Given the description of an element on the screen output the (x, y) to click on. 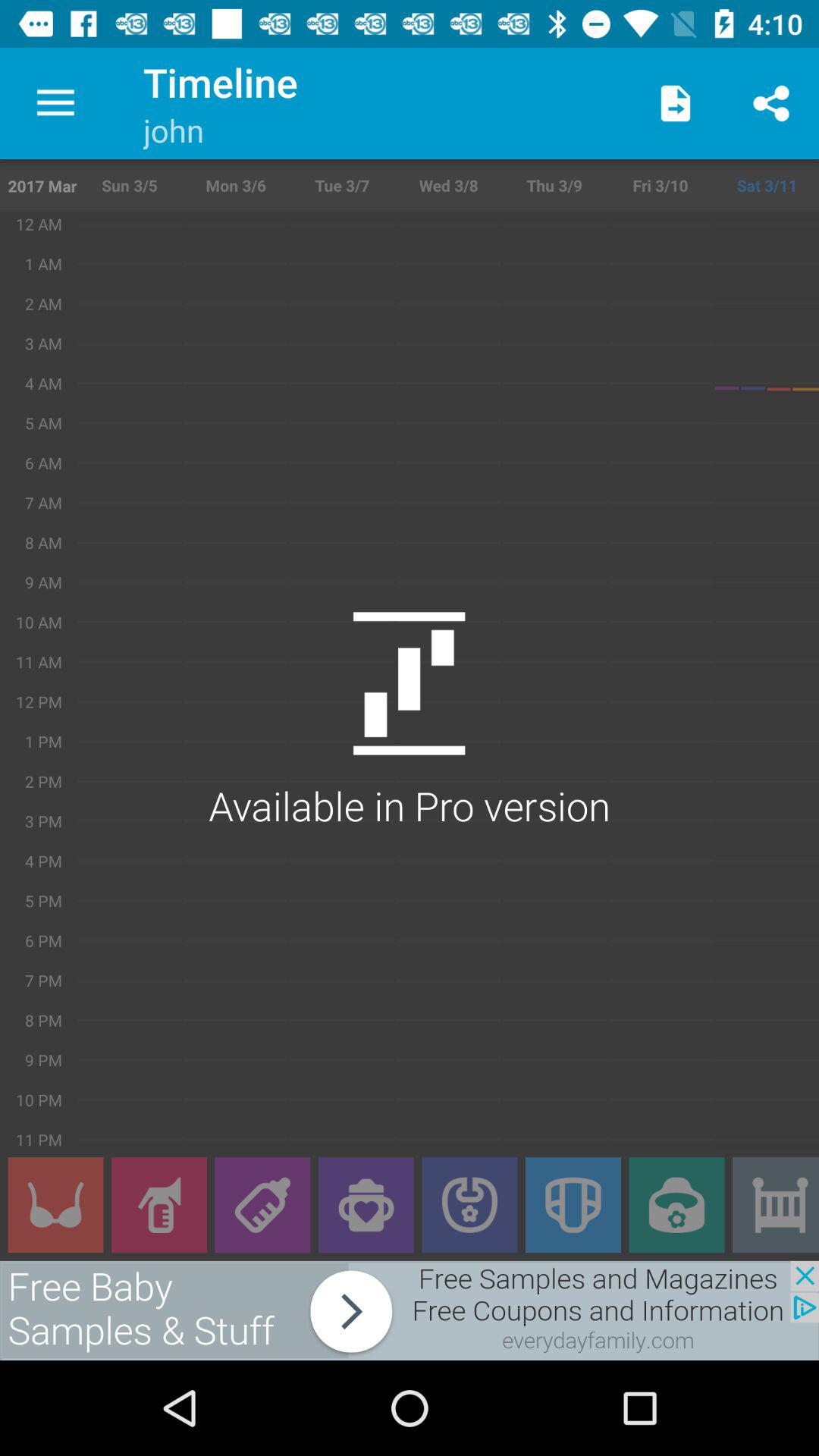
open sub menu (262, 1204)
